Given the description of an element on the screen output the (x, y) to click on. 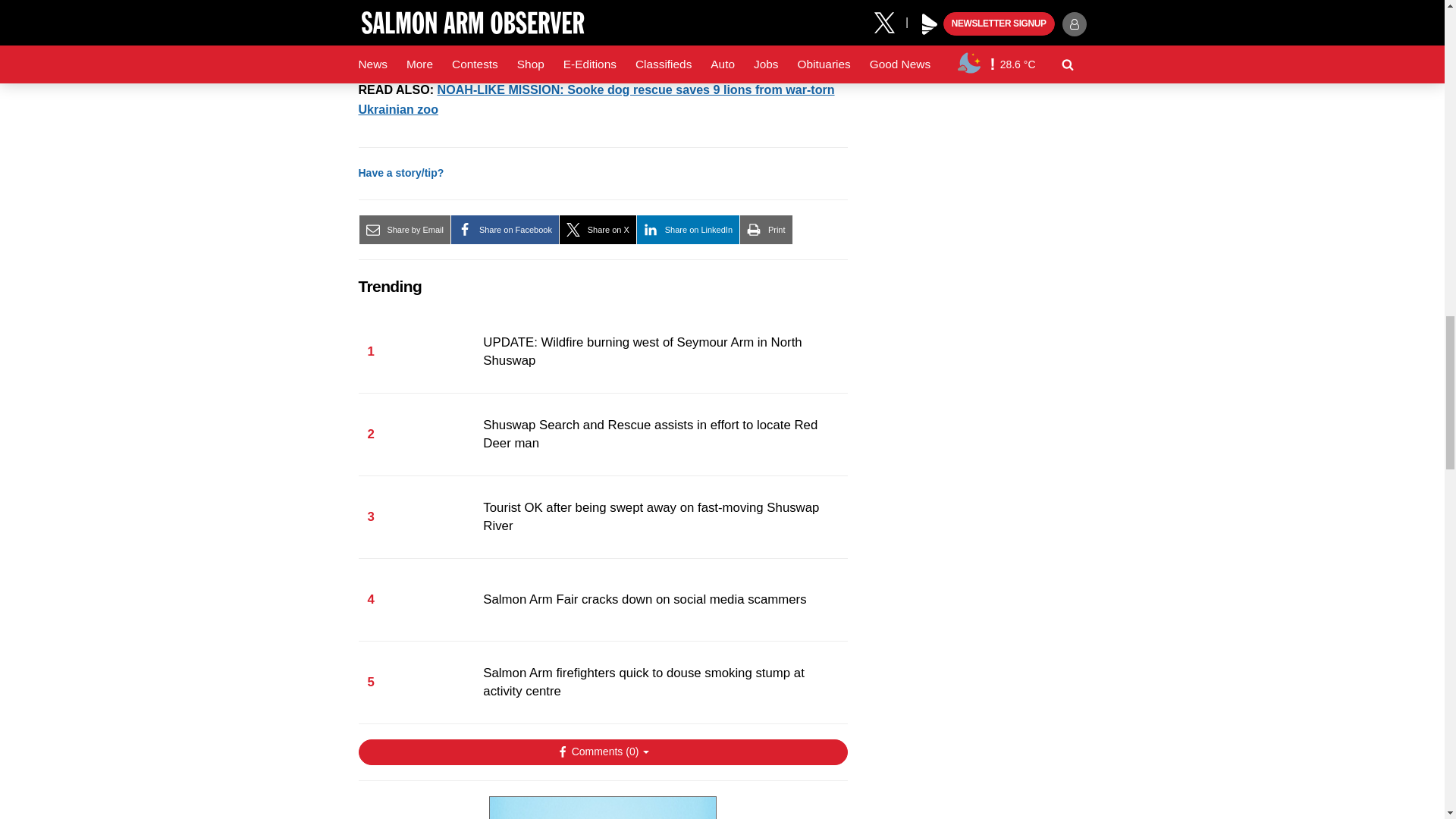
3rd party ad content (602, 807)
related story (596, 99)
Show Comments (602, 751)
